Given the description of an element on the screen output the (x, y) to click on. 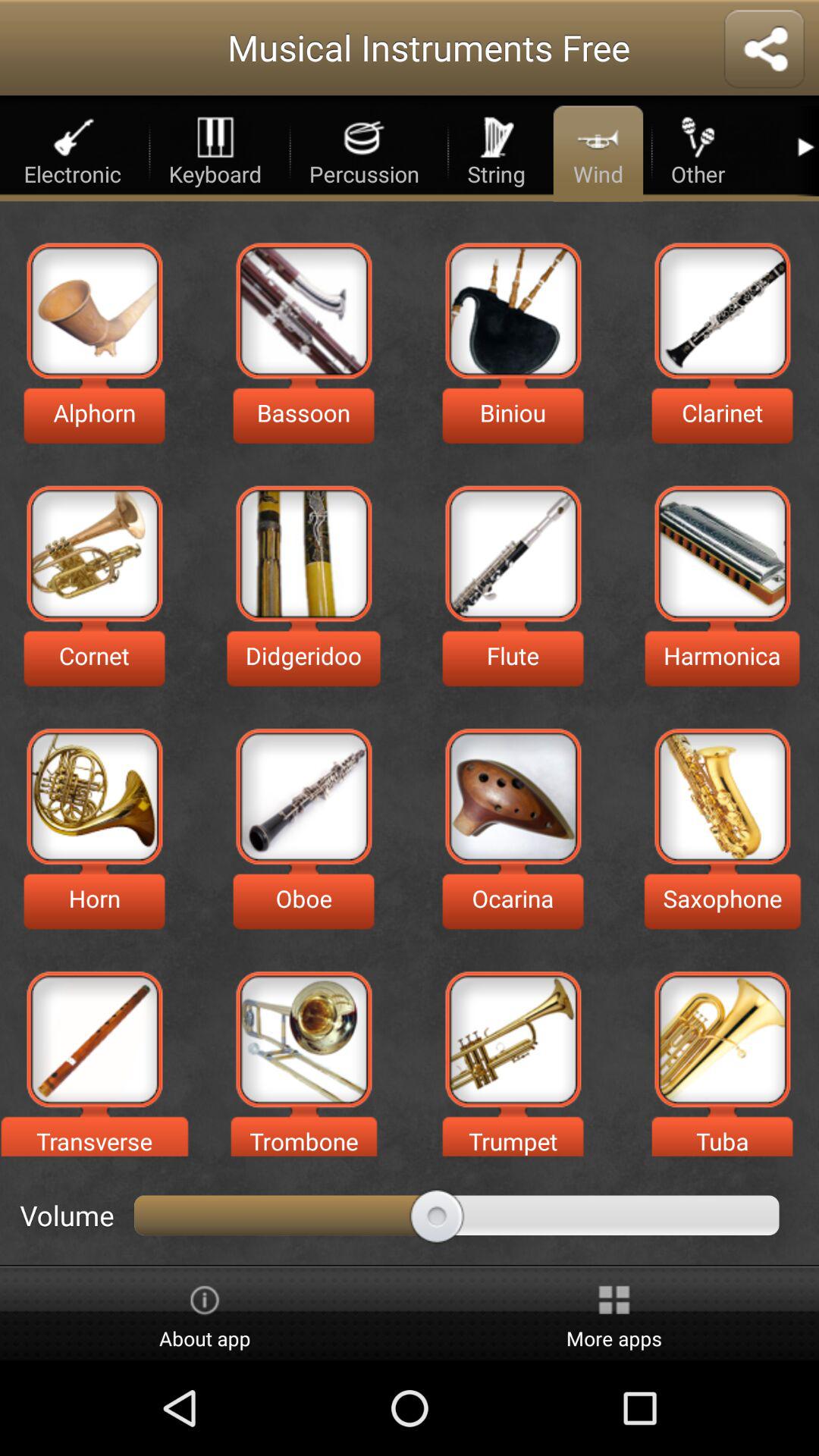
explore oboe option (303, 796)
